Given the description of an element on the screen output the (x, y) to click on. 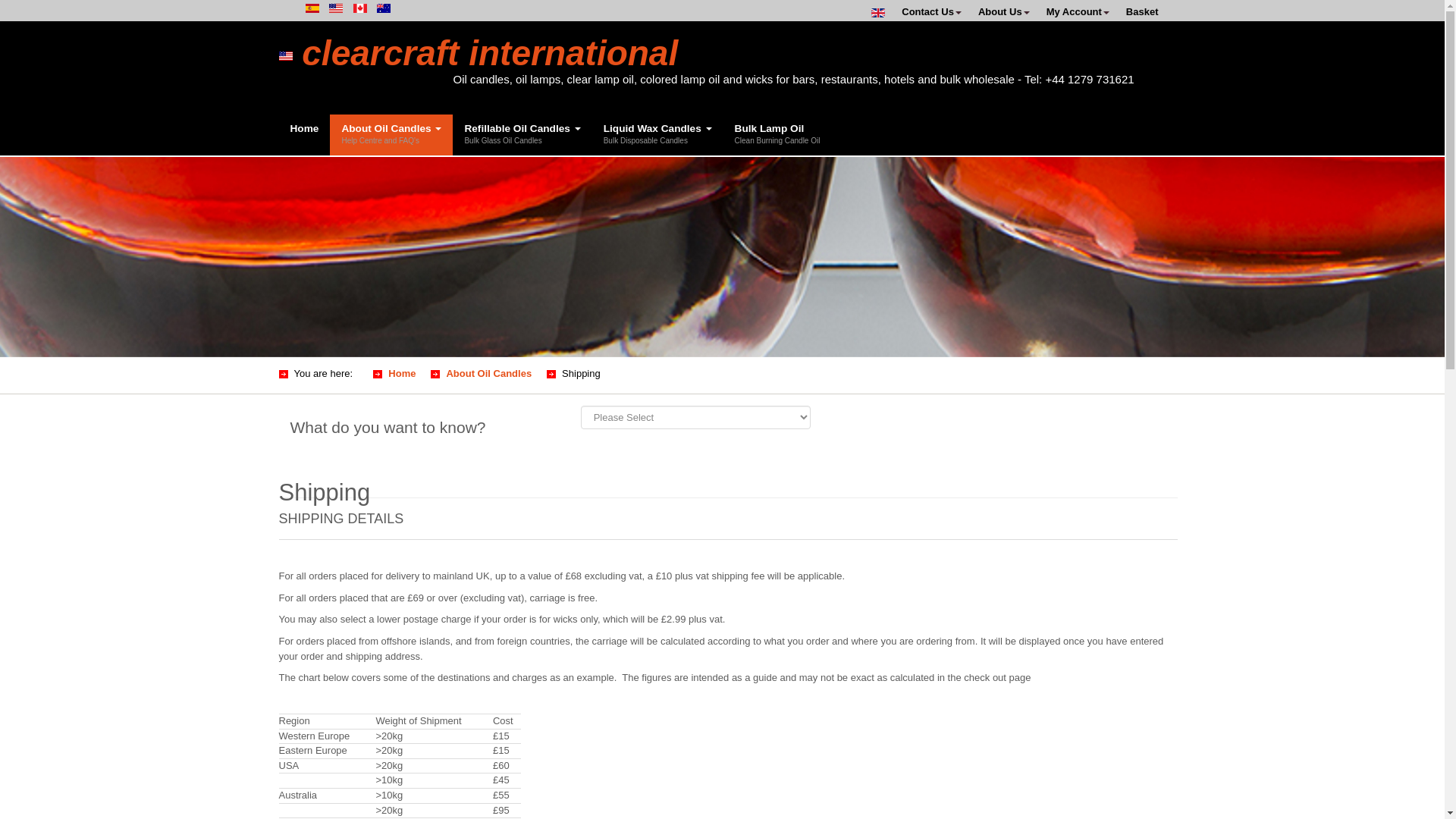
Basket (1142, 10)
Contact Us (931, 10)
My Account (1077, 10)
About Us (1003, 10)
